Given the description of an element on the screen output the (x, y) to click on. 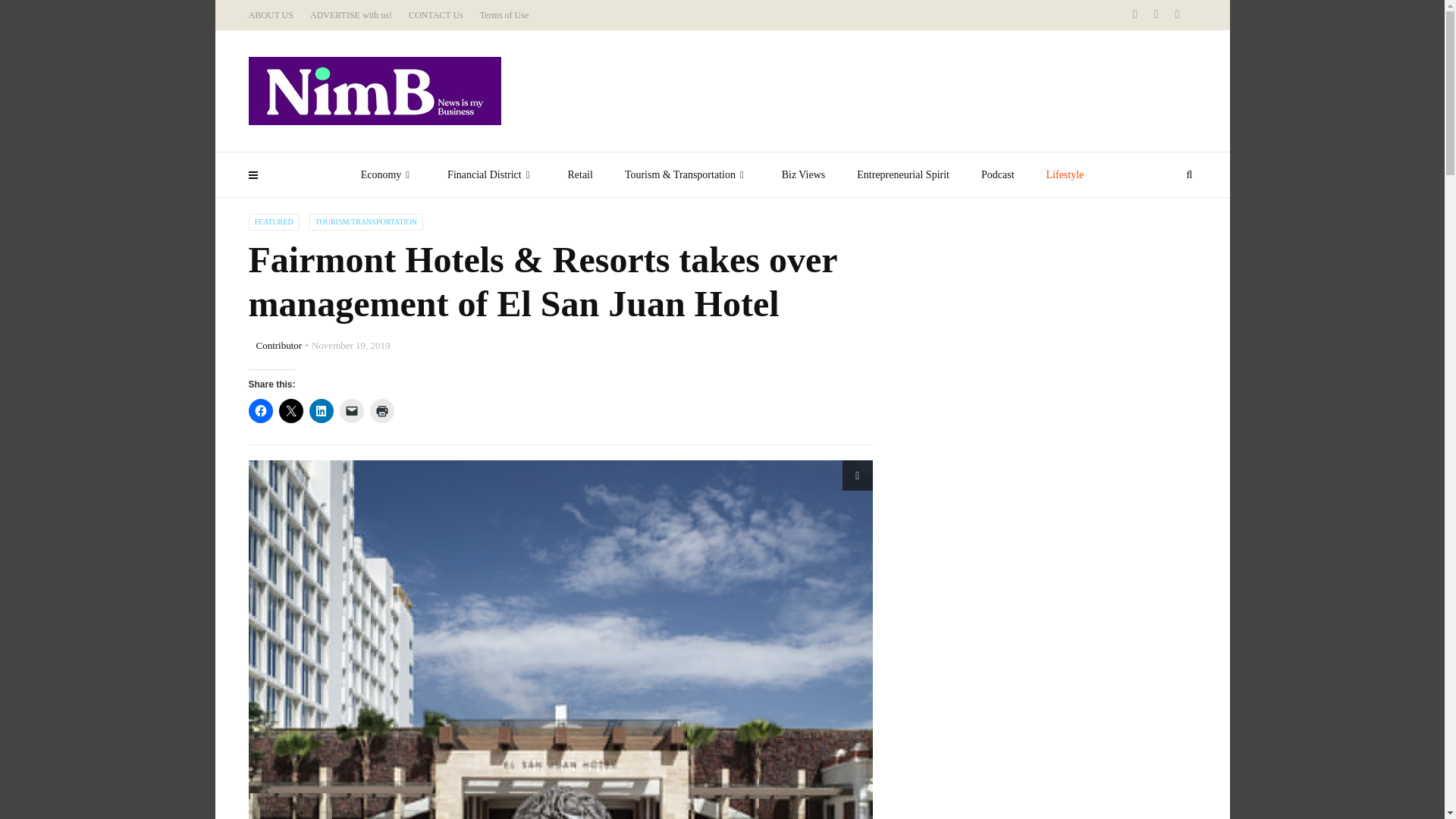
ADVERTISE with us! (350, 15)
Terms of Use (504, 15)
3rd party ad content (1008, 728)
Entrepreneurial Spirit (903, 174)
Podcast (997, 174)
Financial District (490, 174)
3rd party ad content (1008, 520)
CONTACT Us (436, 15)
ABOUT US (271, 15)
Click to share on X (290, 410)
3rd party ad content (920, 90)
Click to share on LinkedIn (320, 410)
Retail (579, 174)
Biz Views (803, 174)
3rd party ad content (1008, 308)
